Given the description of an element on the screen output the (x, y) to click on. 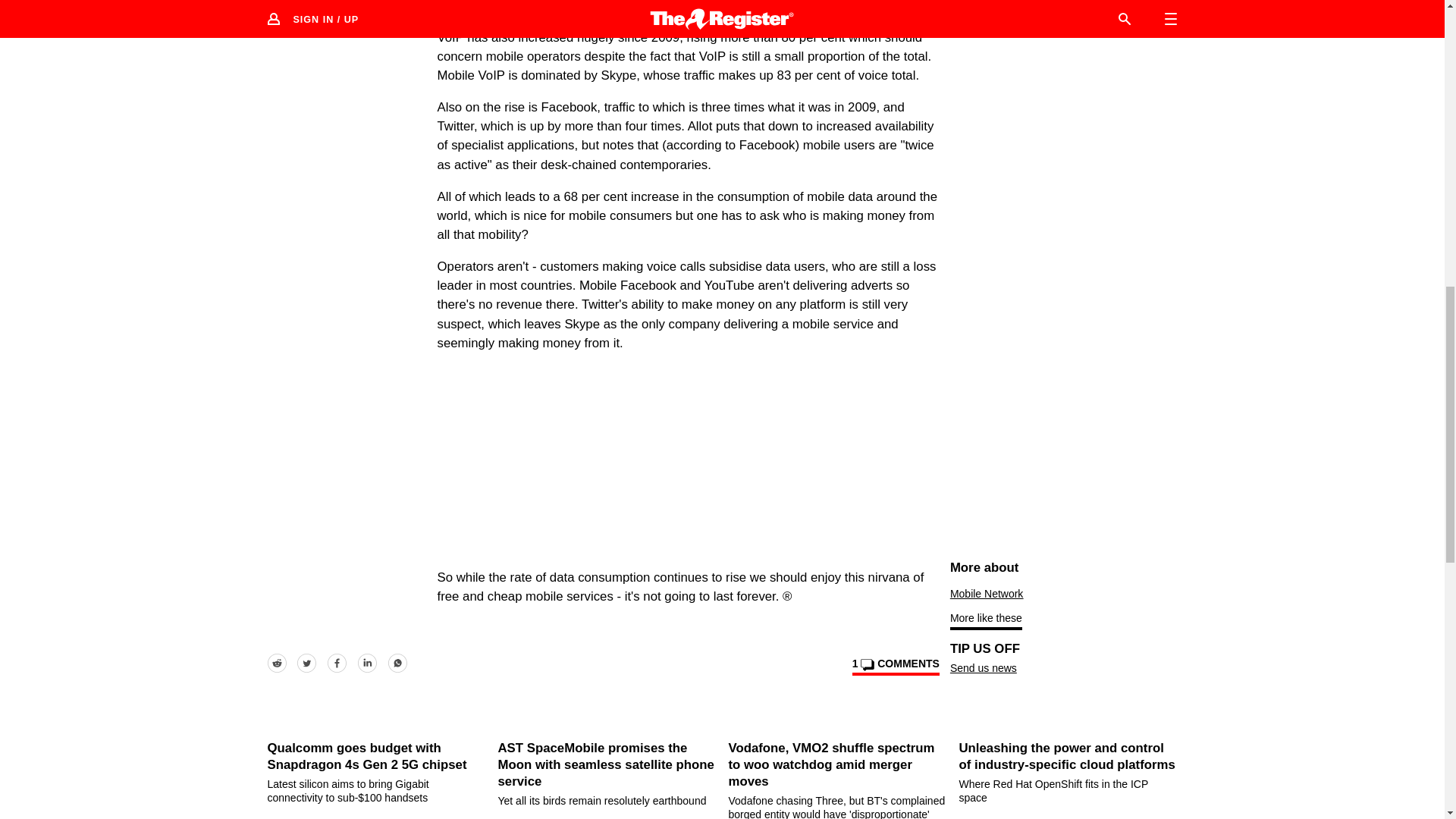
View comments on this article (895, 665)
